Given the description of an element on the screen output the (x, y) to click on. 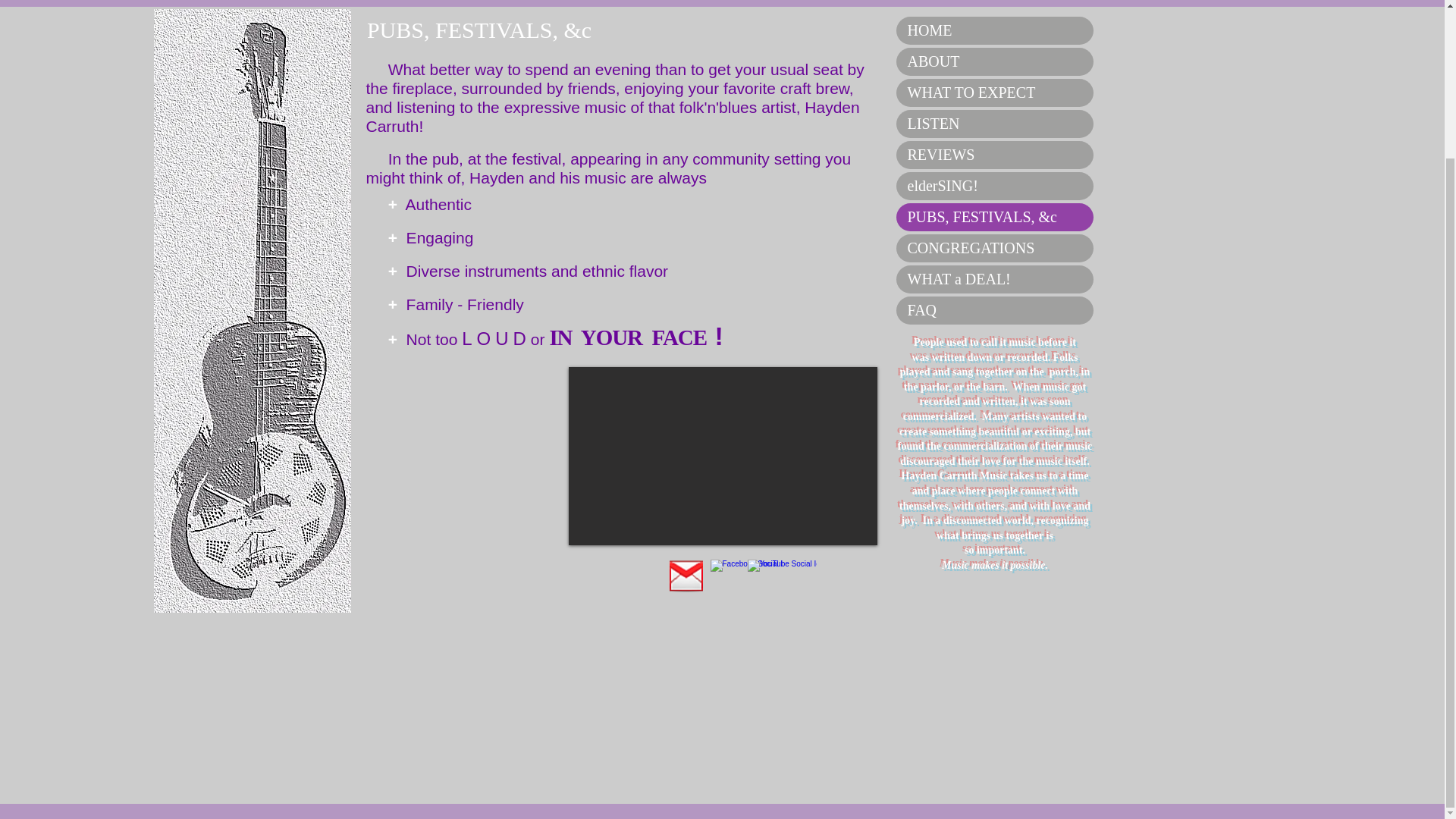
WHAT TO EXPECT (994, 92)
FAQ (994, 310)
LISTEN (994, 123)
ABOUT (994, 61)
CONGREGATIONS (994, 248)
REVIEWS (994, 154)
External YouTube (722, 455)
WHAT a DEAL! (994, 279)
HOME (994, 30)
elderSING! (994, 185)
